Given the description of an element on the screen output the (x, y) to click on. 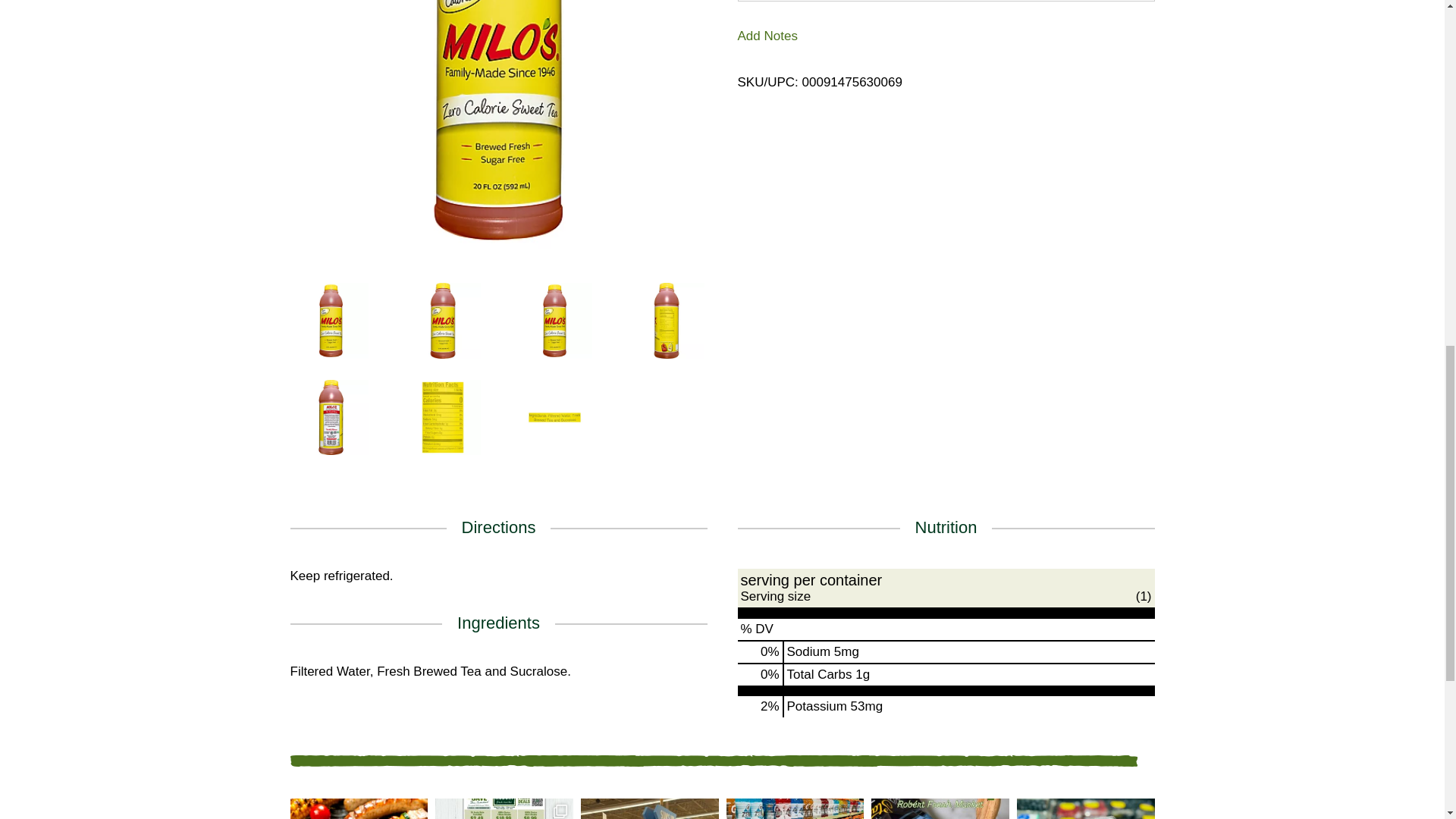
Green Border (713, 760)
